Given the description of an element on the screen output the (x, y) to click on. 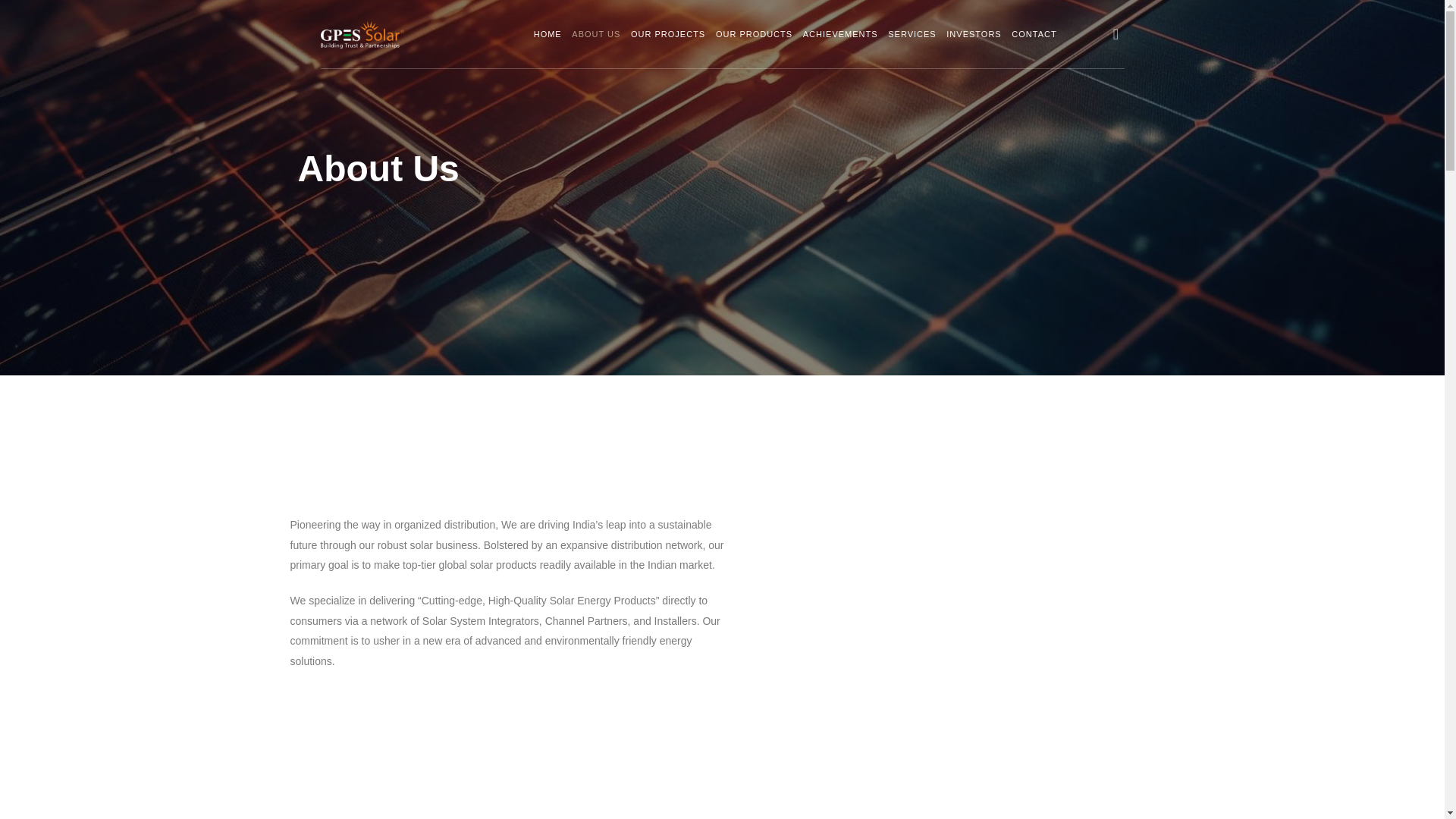
ACHIEVEMENTS (840, 33)
OUR PROJECTS (667, 33)
OUR PRODUCTS (754, 33)
